Given the description of an element on the screen output the (x, y) to click on. 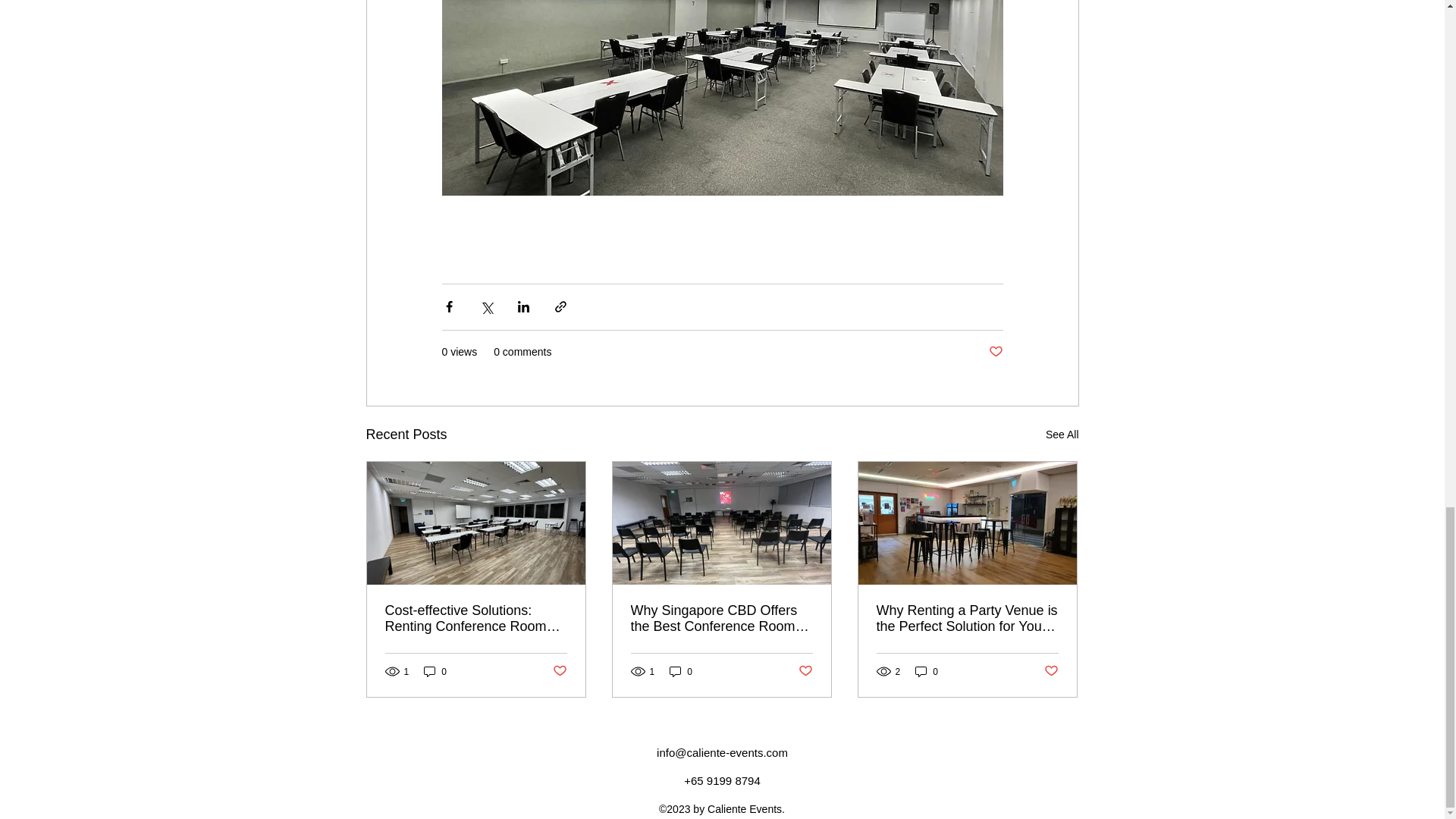
0 (926, 671)
Post not marked as liked (995, 351)
Post not marked as liked (804, 671)
Post not marked as liked (558, 671)
Why Singapore CBD Offers the Best Conference Room Locations (721, 618)
Post not marked as liked (1050, 671)
See All (1061, 434)
0 (435, 671)
